Given the description of an element on the screen output the (x, y) to click on. 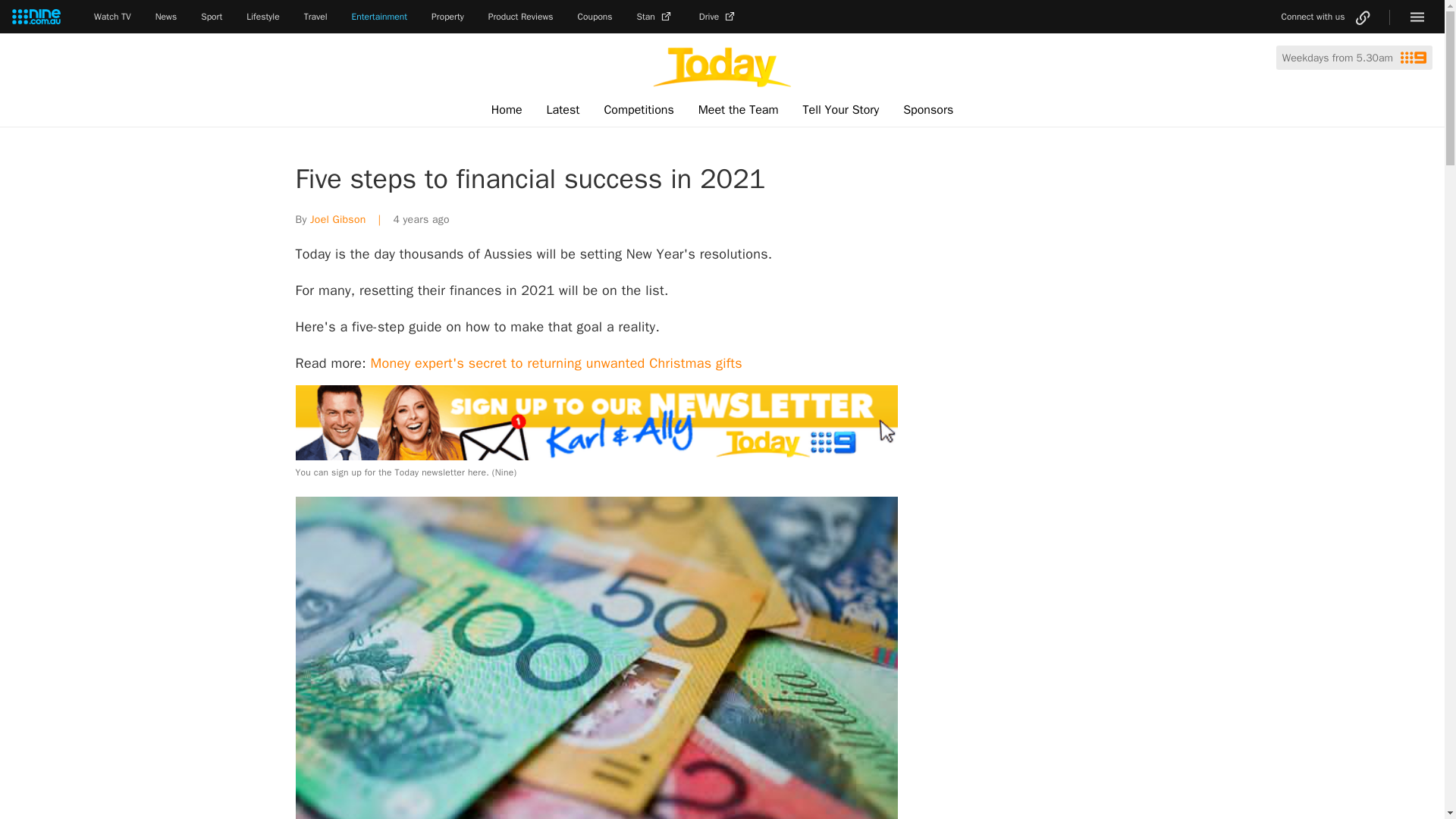
Meet the Team (737, 109)
Latest (563, 109)
Property (447, 16)
Tell Your Story (840, 109)
Competitions (638, 109)
Lifestyle (262, 16)
Drive (718, 16)
Travel (315, 16)
Product Reviews (520, 16)
Money expert's secret to returning unwanted Christmas gifts (556, 362)
Stan (656, 16)
Sport (211, 16)
Sponsors (928, 109)
Money expert's secret to returning unwanted Christmas gifts (556, 362)
Watch TV (112, 16)
